Given the description of an element on the screen output the (x, y) to click on. 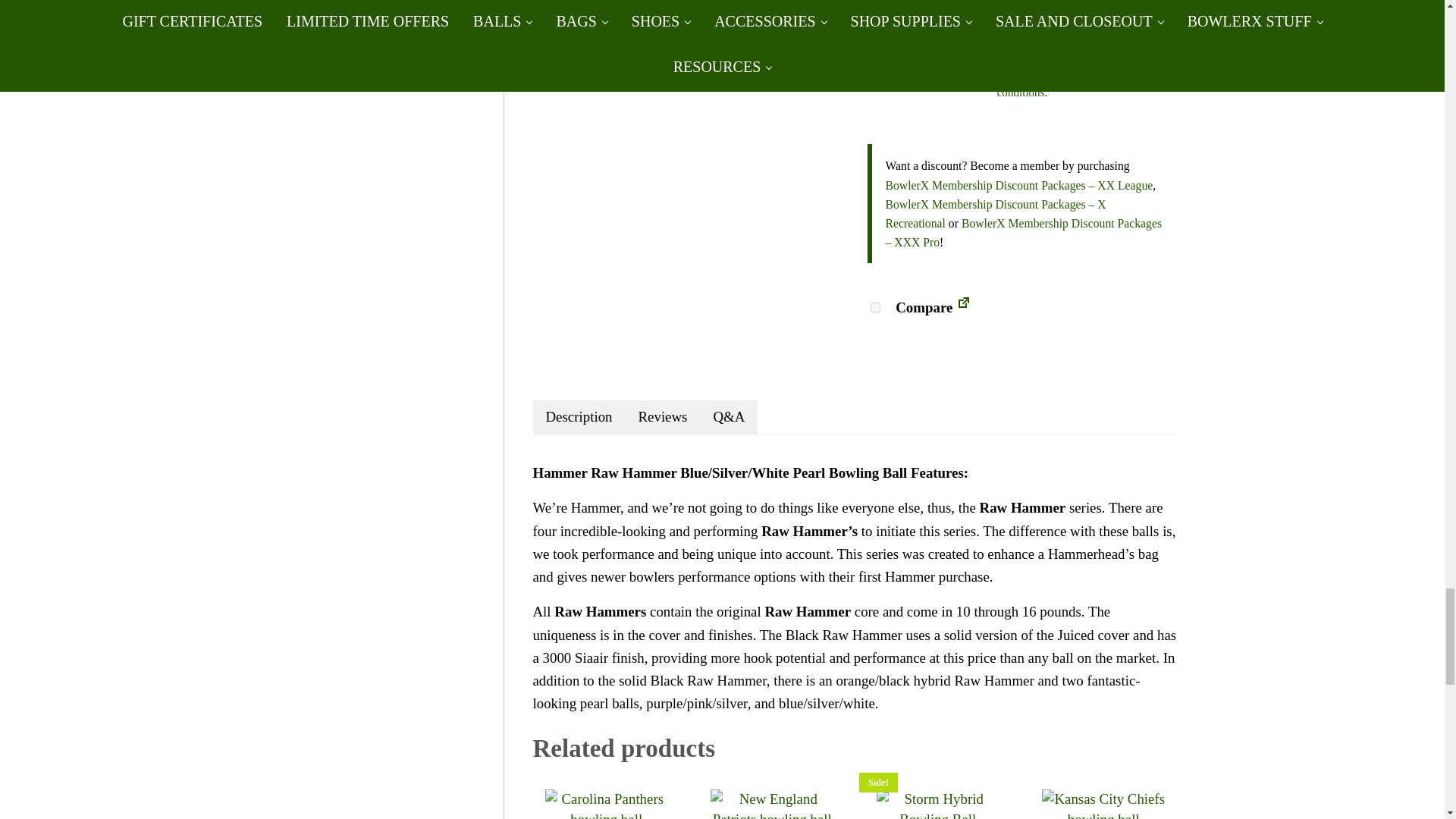
on (875, 307)
Compare Page (963, 307)
1 (894, 23)
